Given the description of an element on the screen output the (x, y) to click on. 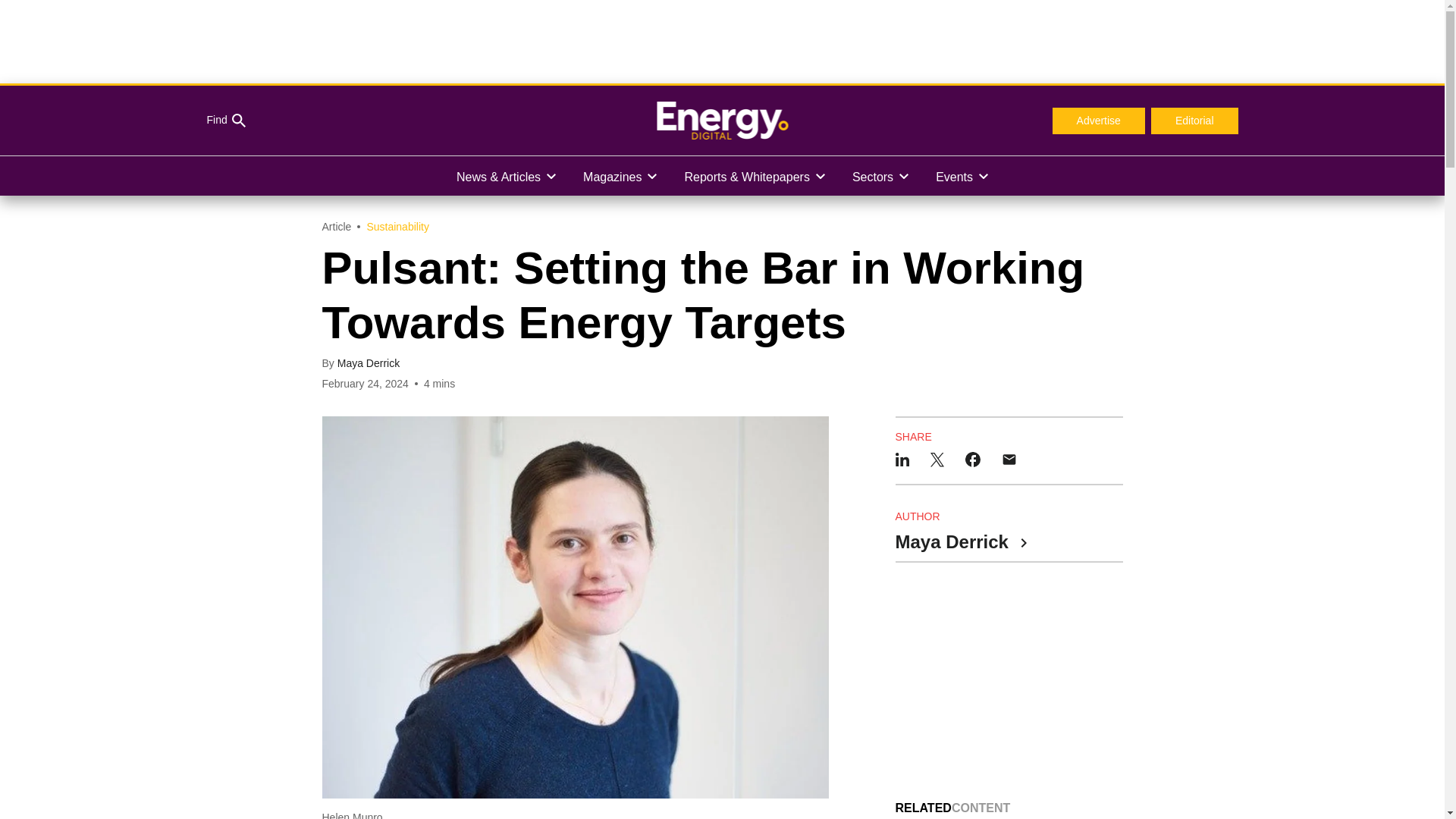
Magazines (619, 175)
Events (961, 175)
Advertise (1098, 121)
Sectors (879, 175)
Find (225, 120)
Editorial (1195, 121)
